Given the description of an element on the screen output the (x, y) to click on. 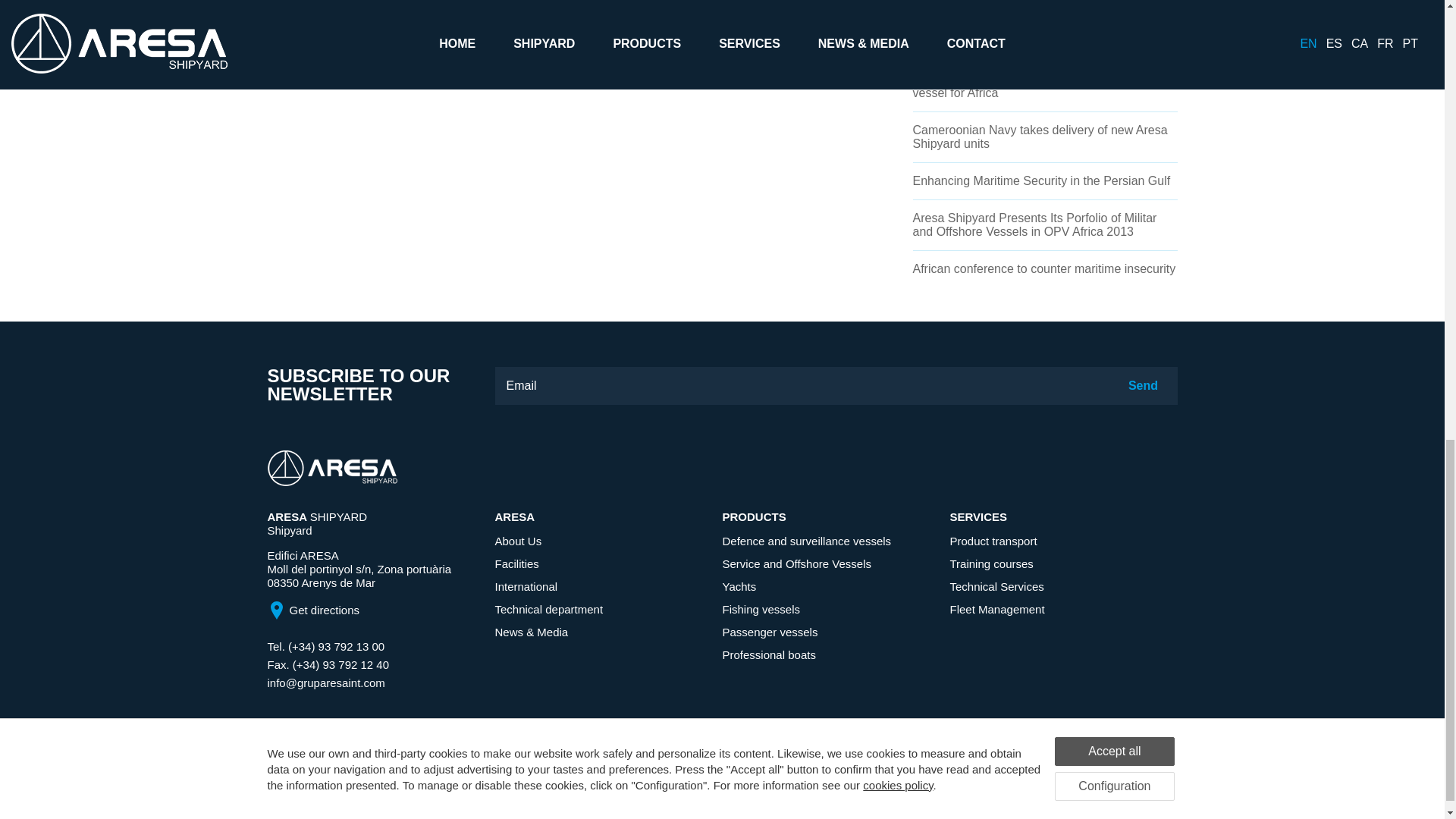
Send (1142, 385)
